Given the description of an element on the screen output the (x, y) to click on. 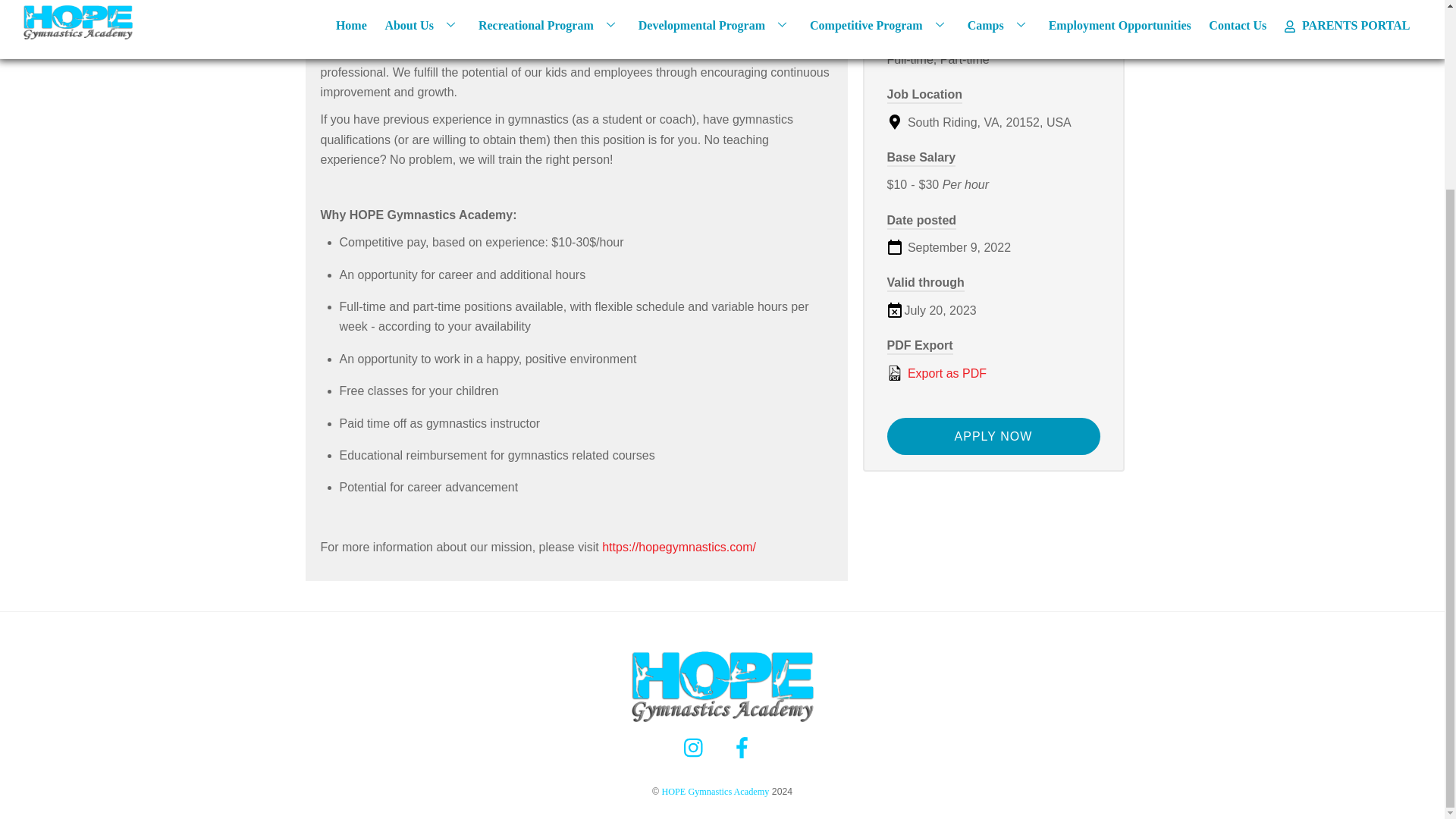
APPLY NOW (993, 436)
Export as PDF (993, 373)
logo-final (721, 686)
HOPE Gymnastics Academy (721, 719)
